Given the description of an element on the screen output the (x, y) to click on. 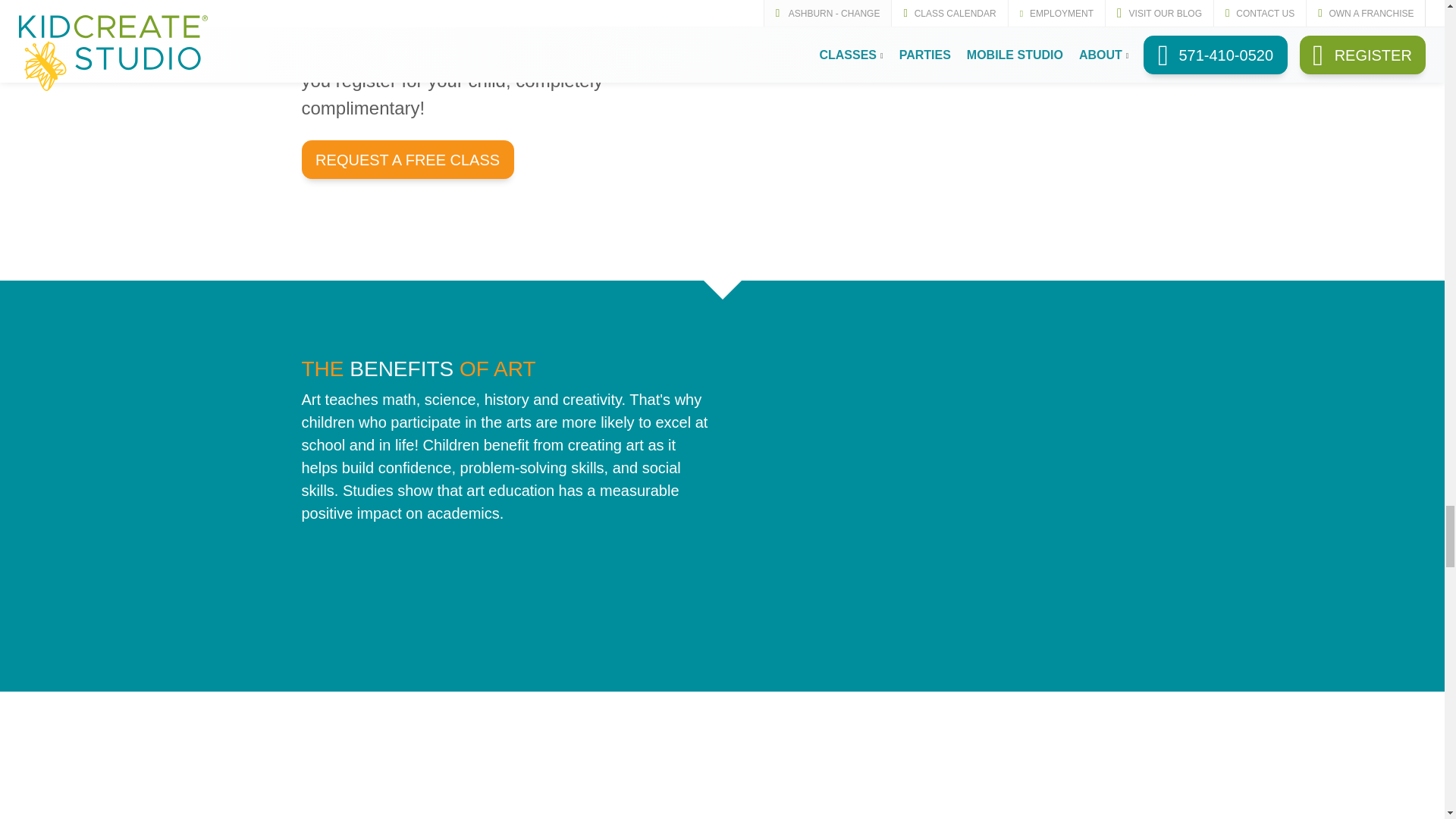
Request a free painting studio for kids class (407, 159)
